Given the description of an element on the screen output the (x, y) to click on. 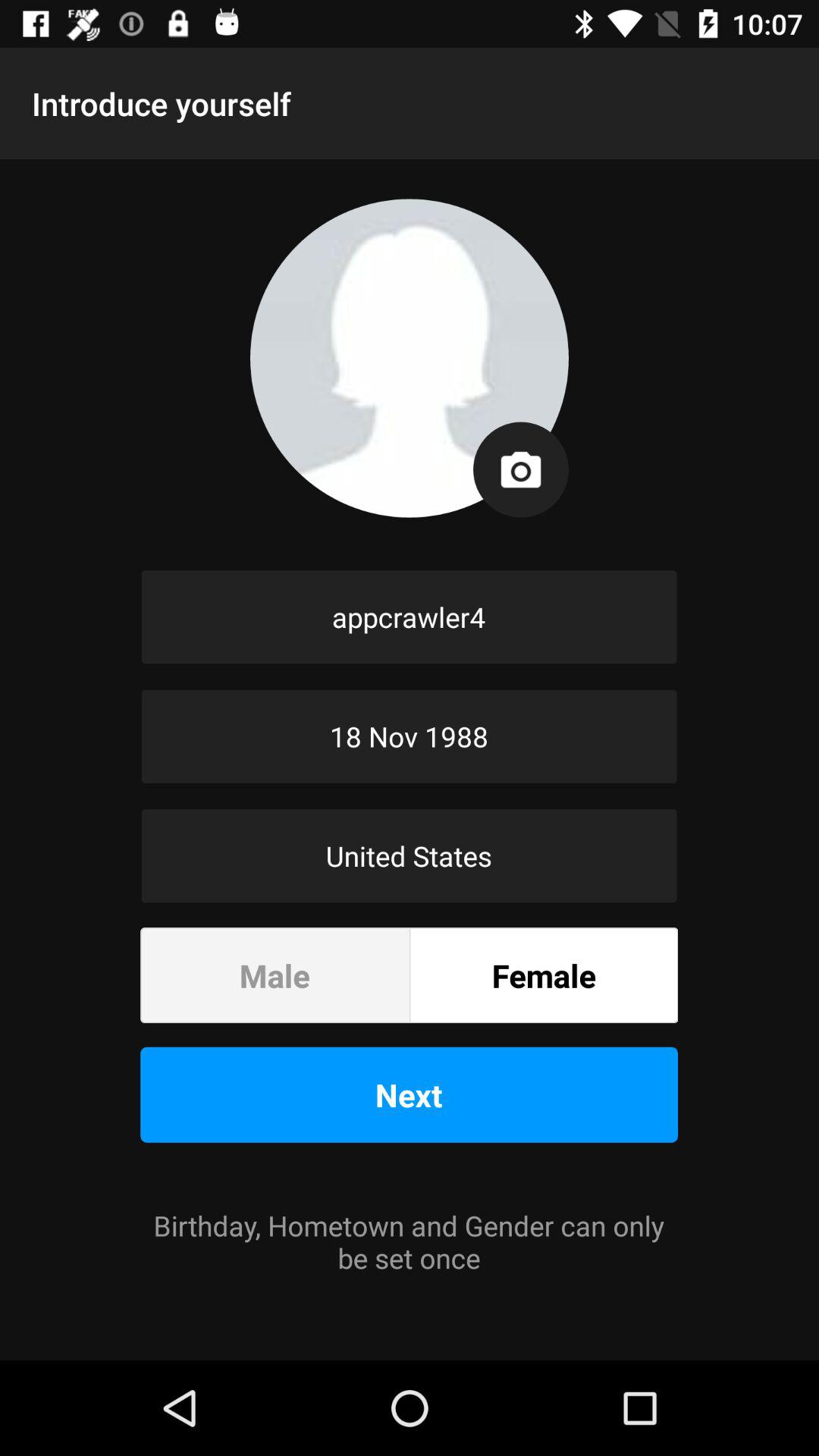
tap item above the male icon (408, 855)
